Given the description of an element on the screen output the (x, y) to click on. 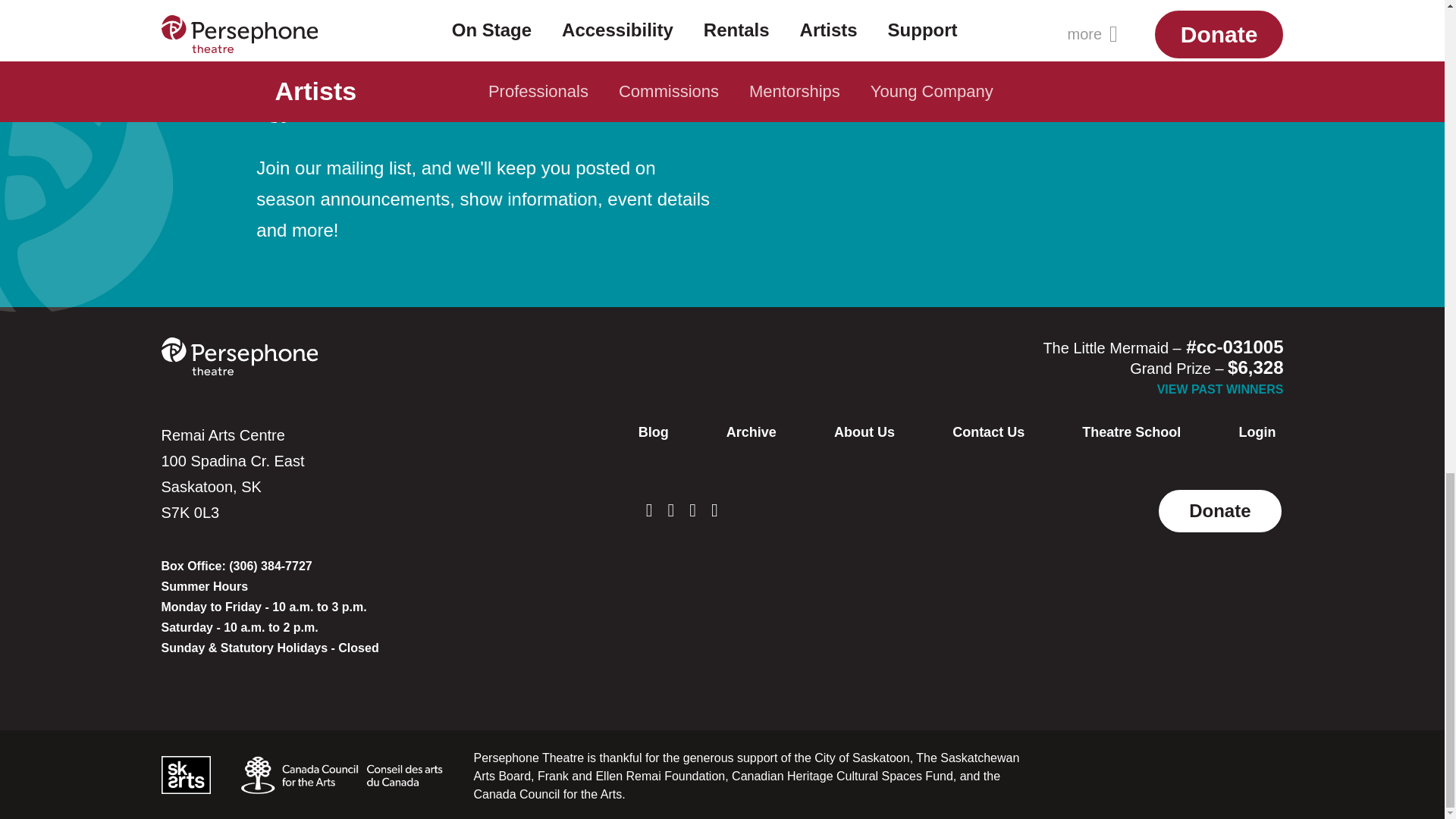
persephone-logomark (278, 99)
